Given the description of an element on the screen output the (x, y) to click on. 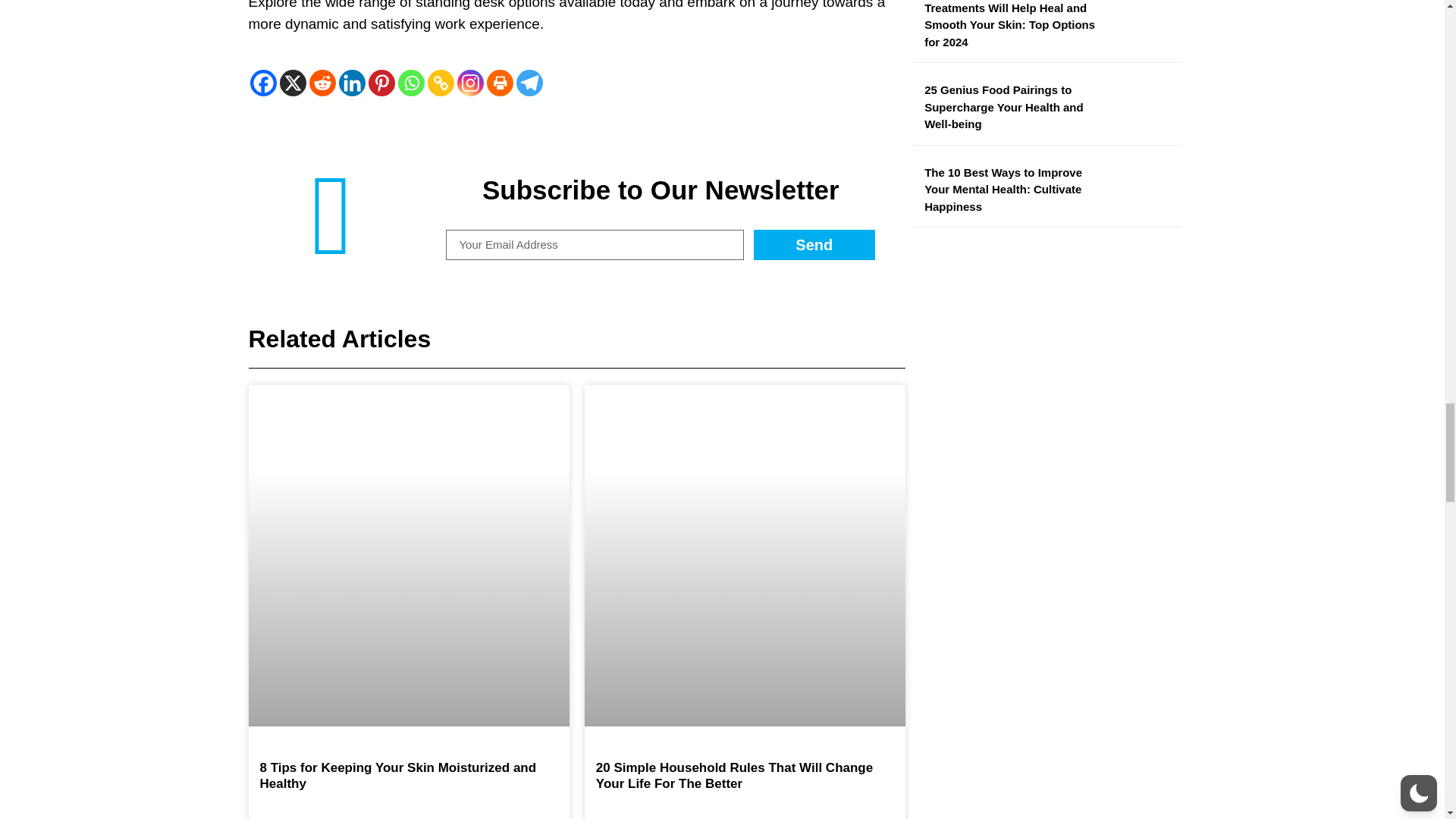
Linkedin (351, 82)
Instagram (470, 82)
X (292, 82)
Pinterest (381, 82)
Copy Link (441, 82)
Facebook (263, 82)
Whatsapp (410, 82)
Reddit (322, 82)
